Given the description of an element on the screen output the (x, y) to click on. 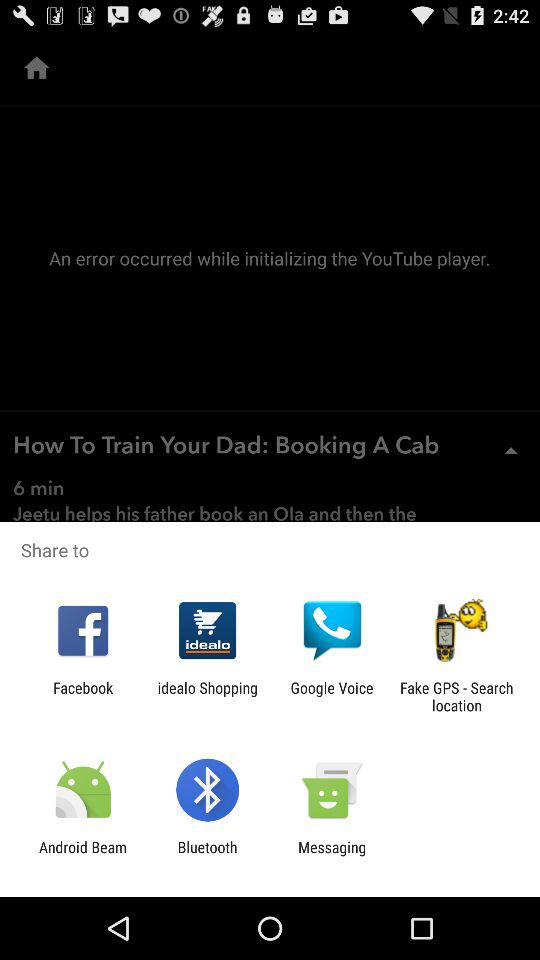
launch app next to bluetooth item (83, 856)
